Given the description of an element on the screen output the (x, y) to click on. 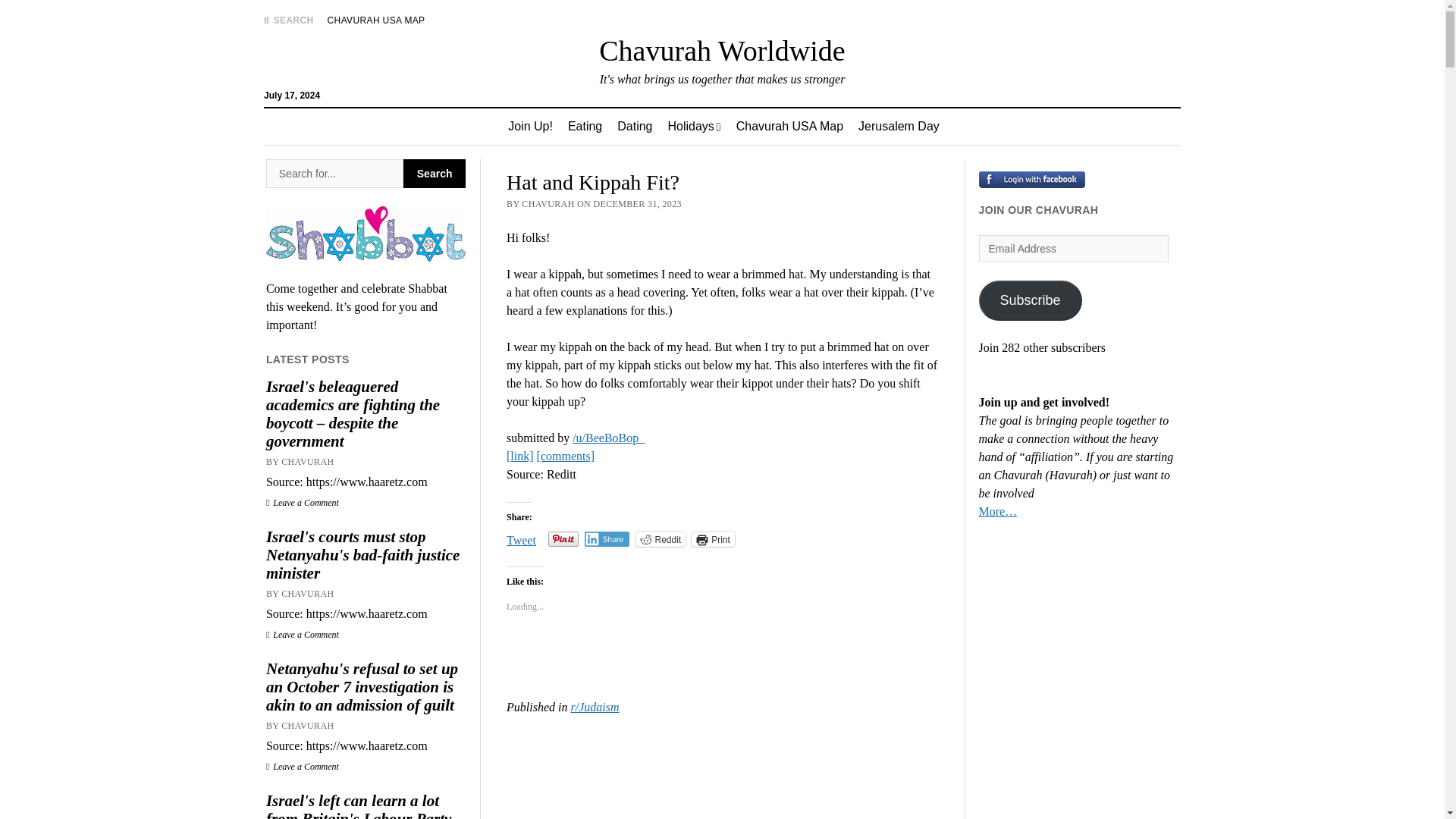
Search (434, 173)
Leave a Comment (302, 766)
Chavurah USA Map (788, 126)
Chavurah Worldwide (721, 50)
Search (945, 129)
Israel's left can learn a lot from Britain's Labour Party (365, 805)
CHAVURAH USA MAP (376, 20)
Search (434, 173)
SEARCH (288, 20)
Join Up! (530, 126)
Search (434, 173)
Search (334, 173)
Click to print (713, 539)
